Given the description of an element on the screen output the (x, y) to click on. 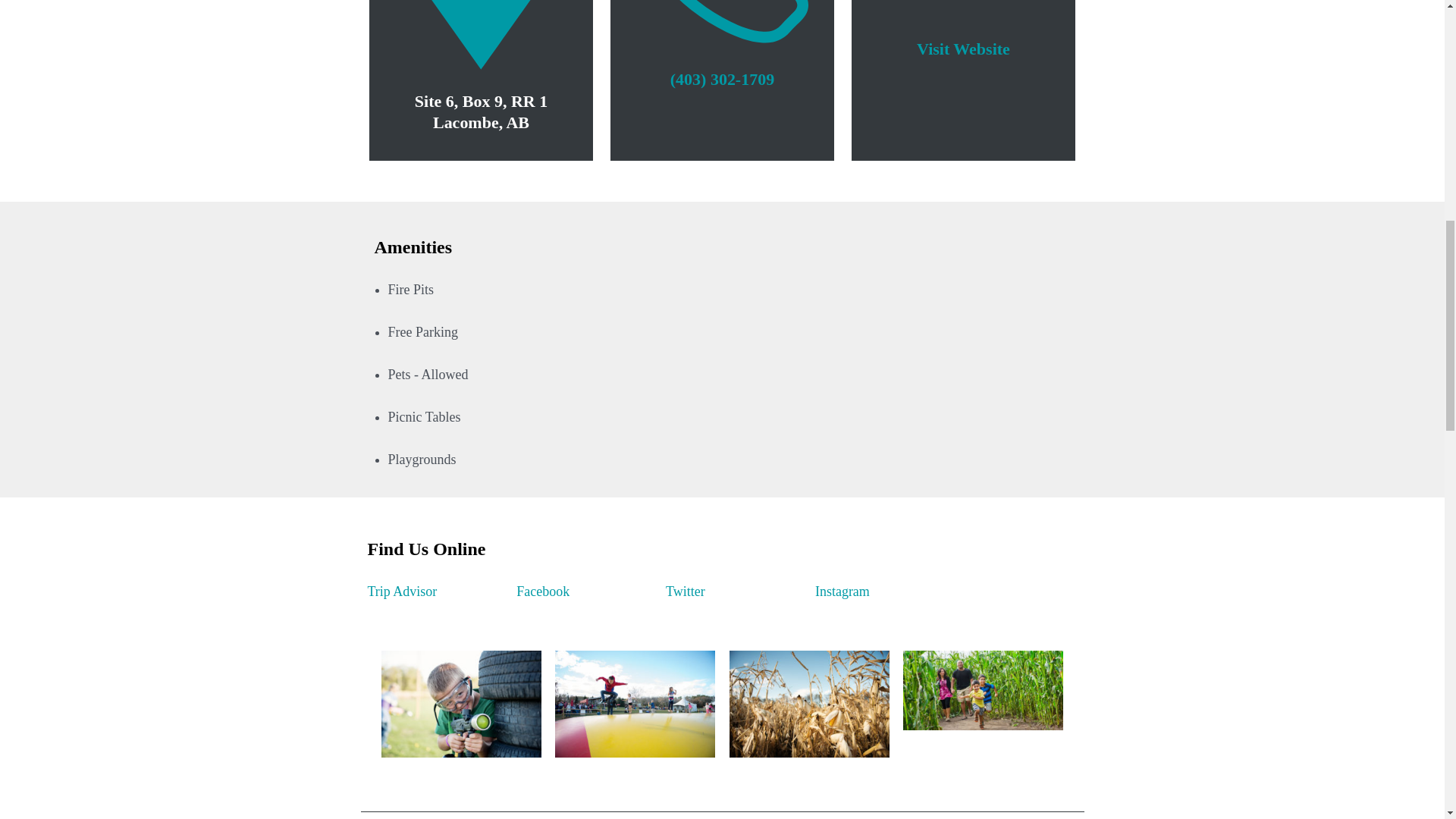
Trip Advisor (401, 590)
Facebook (542, 590)
Visit Website (963, 38)
